Given the description of an element on the screen output the (x, y) to click on. 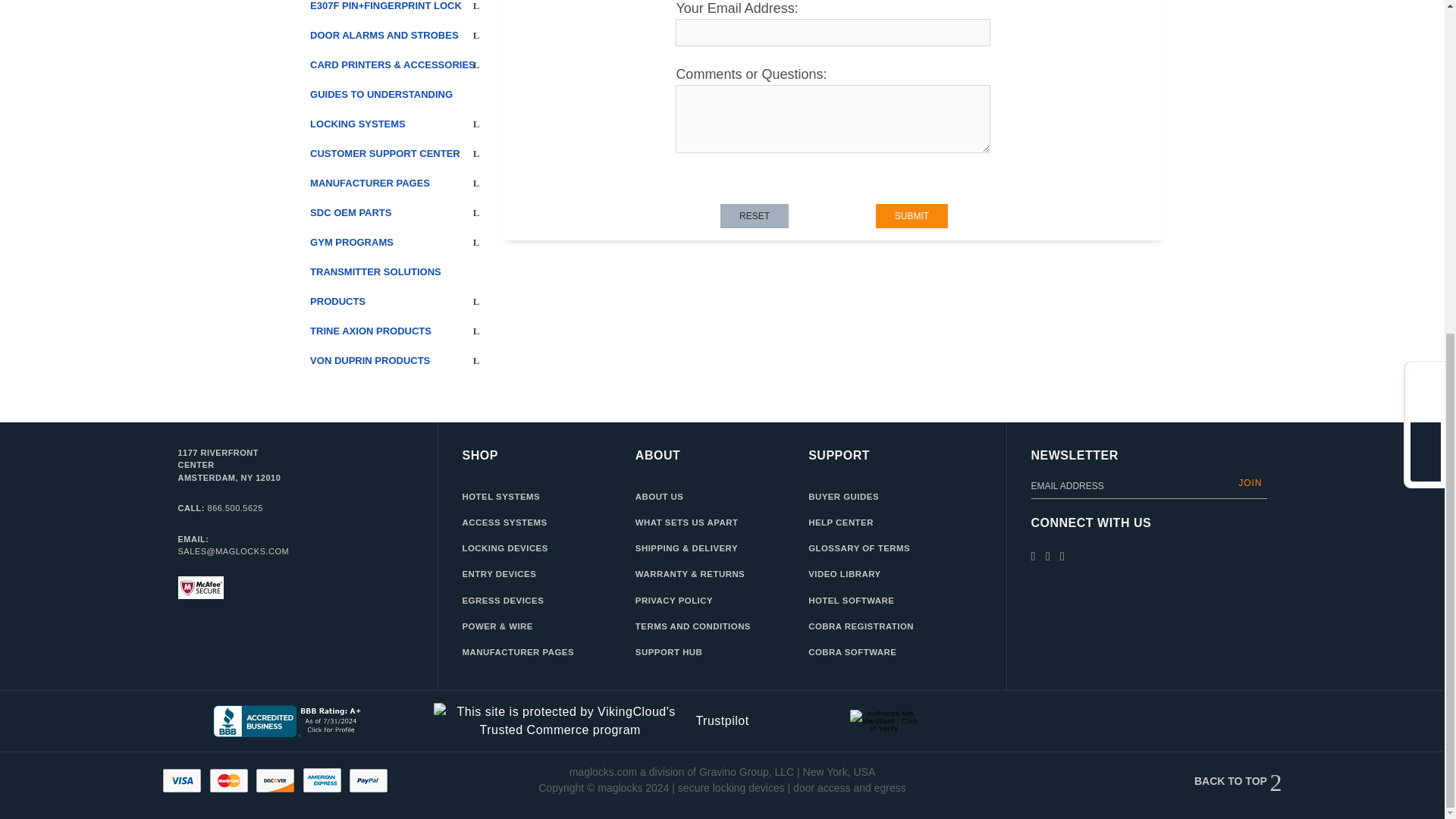
Reset (754, 215)
Submit (911, 215)
Join (1249, 482)
